Given the description of an element on the screen output the (x, y) to click on. 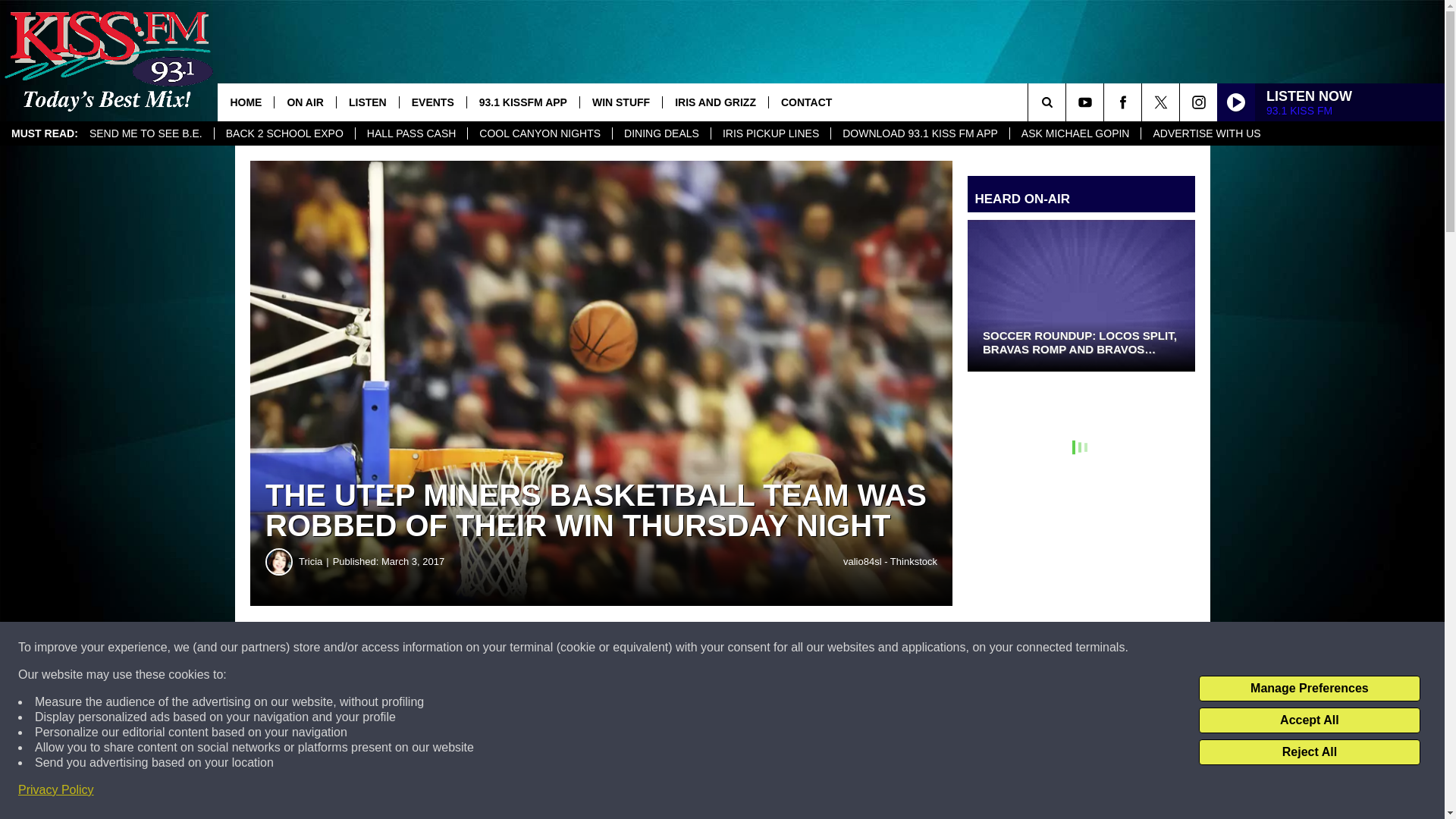
SEARCH (1068, 102)
SEARCH (1068, 102)
IRIS PICKUP LINES (769, 133)
EVENTS (431, 102)
Share on Facebook (460, 647)
BACK 2 SCHOOL EXPO (284, 133)
ON AIR (303, 102)
HOME (244, 102)
LISTEN (367, 102)
Privacy Policy (55, 789)
